Given the description of an element on the screen output the (x, y) to click on. 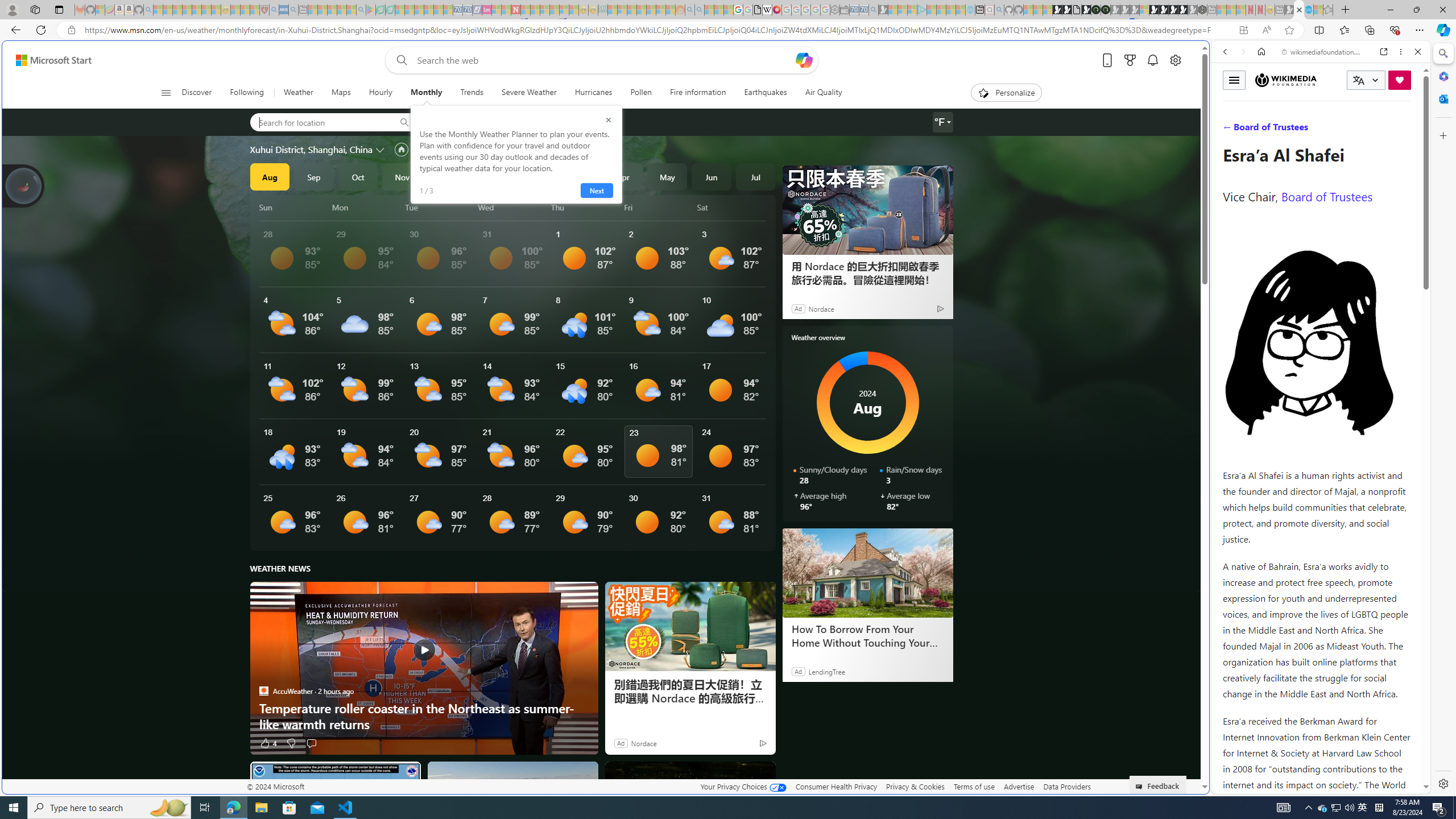
Jul (755, 176)
Air Quality (818, 92)
Utah sues federal government - Search - Sleeping (699, 9)
Local - MSN - Sleeping (254, 9)
May (667, 176)
AutomationID: donut-chart-monthly (867, 402)
